Given the description of an element on the screen output the (x, y) to click on. 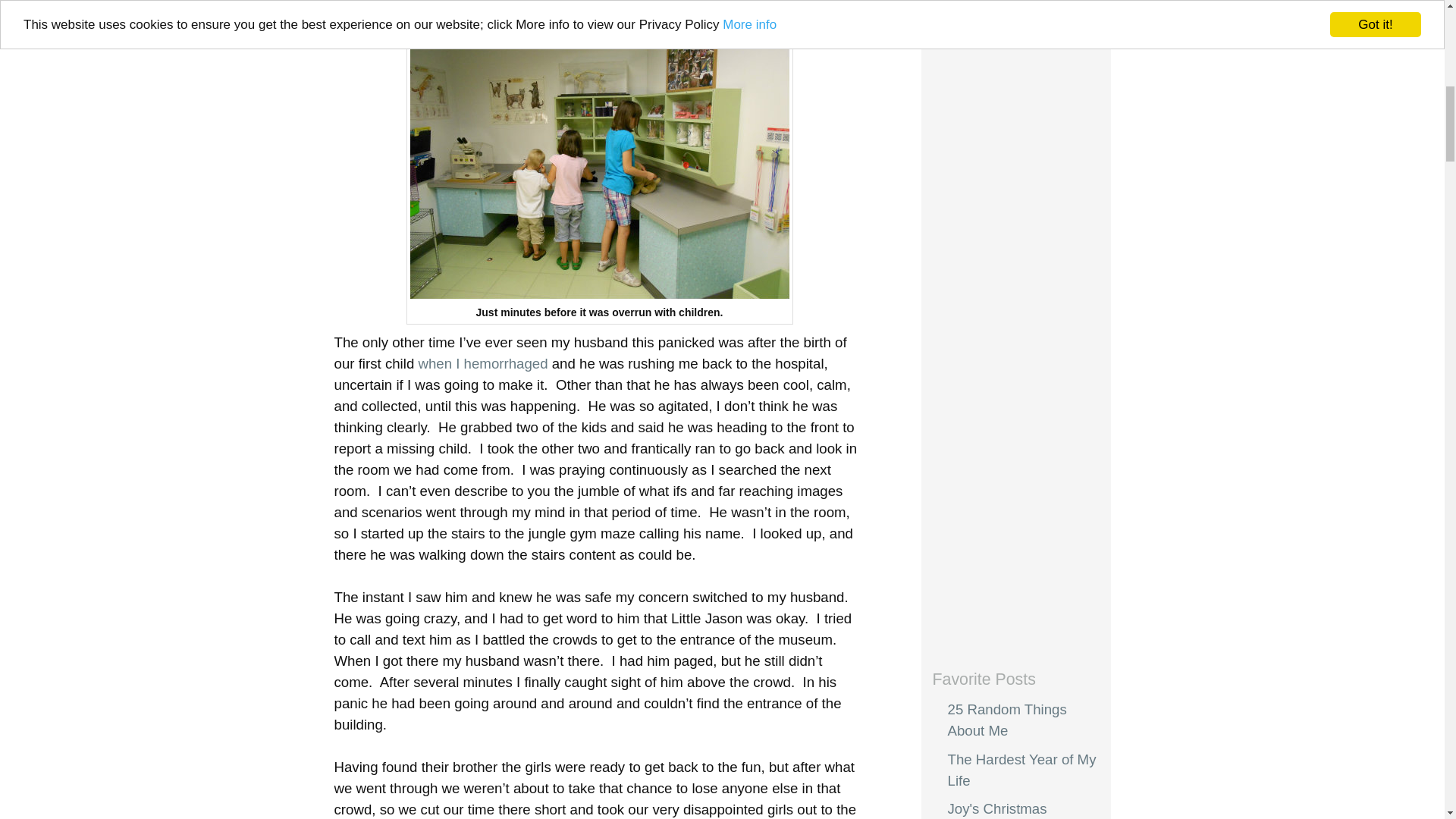
Houston Children's Musem (599, 156)
